Given the description of an element on the screen output the (x, y) to click on. 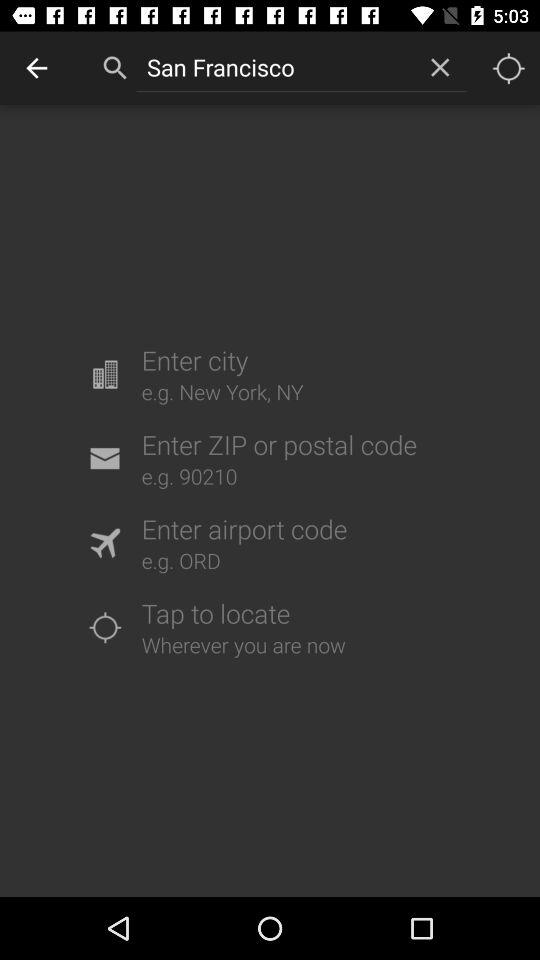
click san francisco (274, 67)
